Given the description of an element on the screen output the (x, y) to click on. 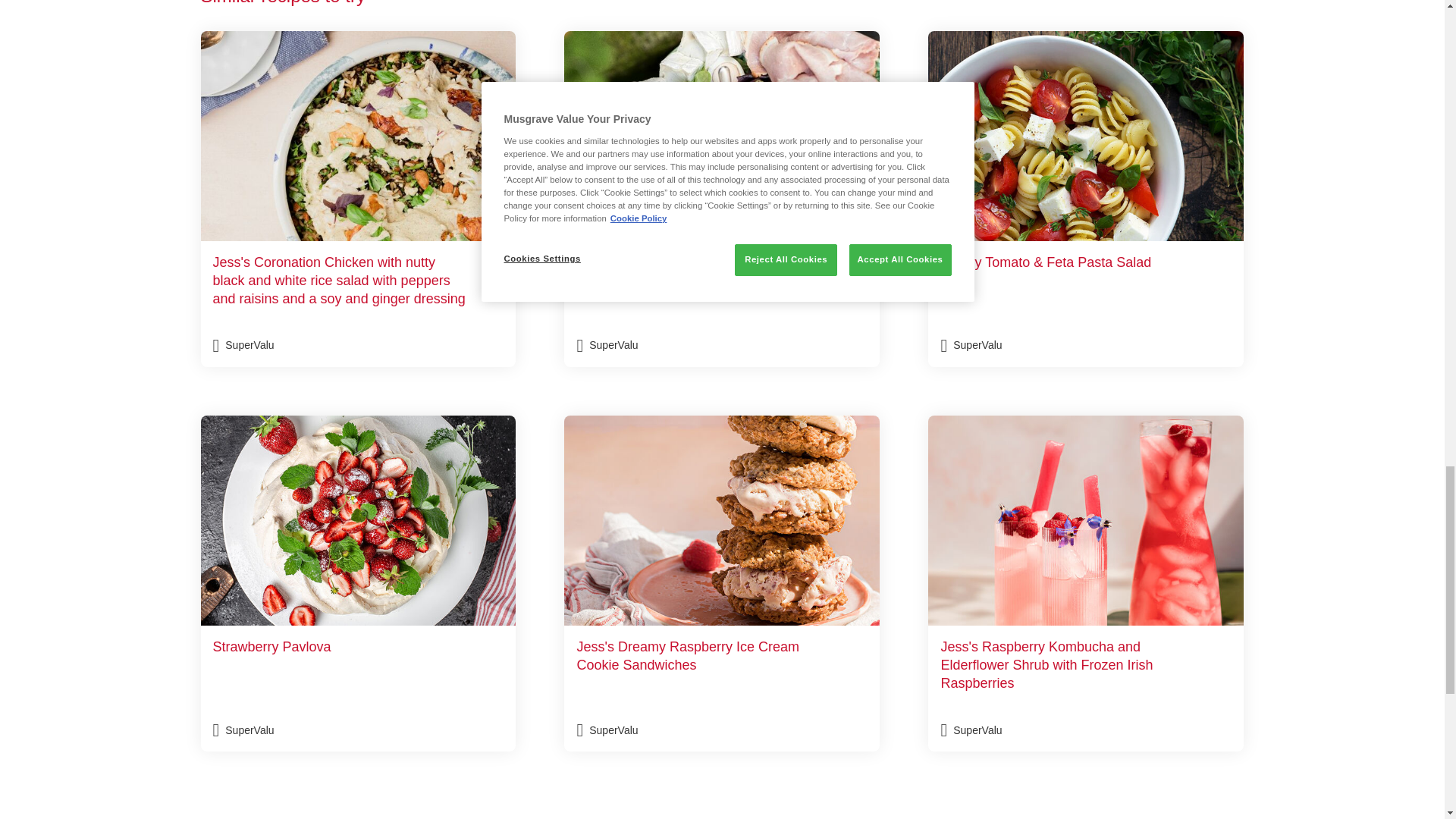
Strawberry Pavlova (357, 583)
Jess's Dreamy Raspberry Ice Cream Cookie Sandwiches  (721, 583)
Jess's Vintage Irish Mammy Salad (721, 198)
